Given the description of an element on the screen output the (x, y) to click on. 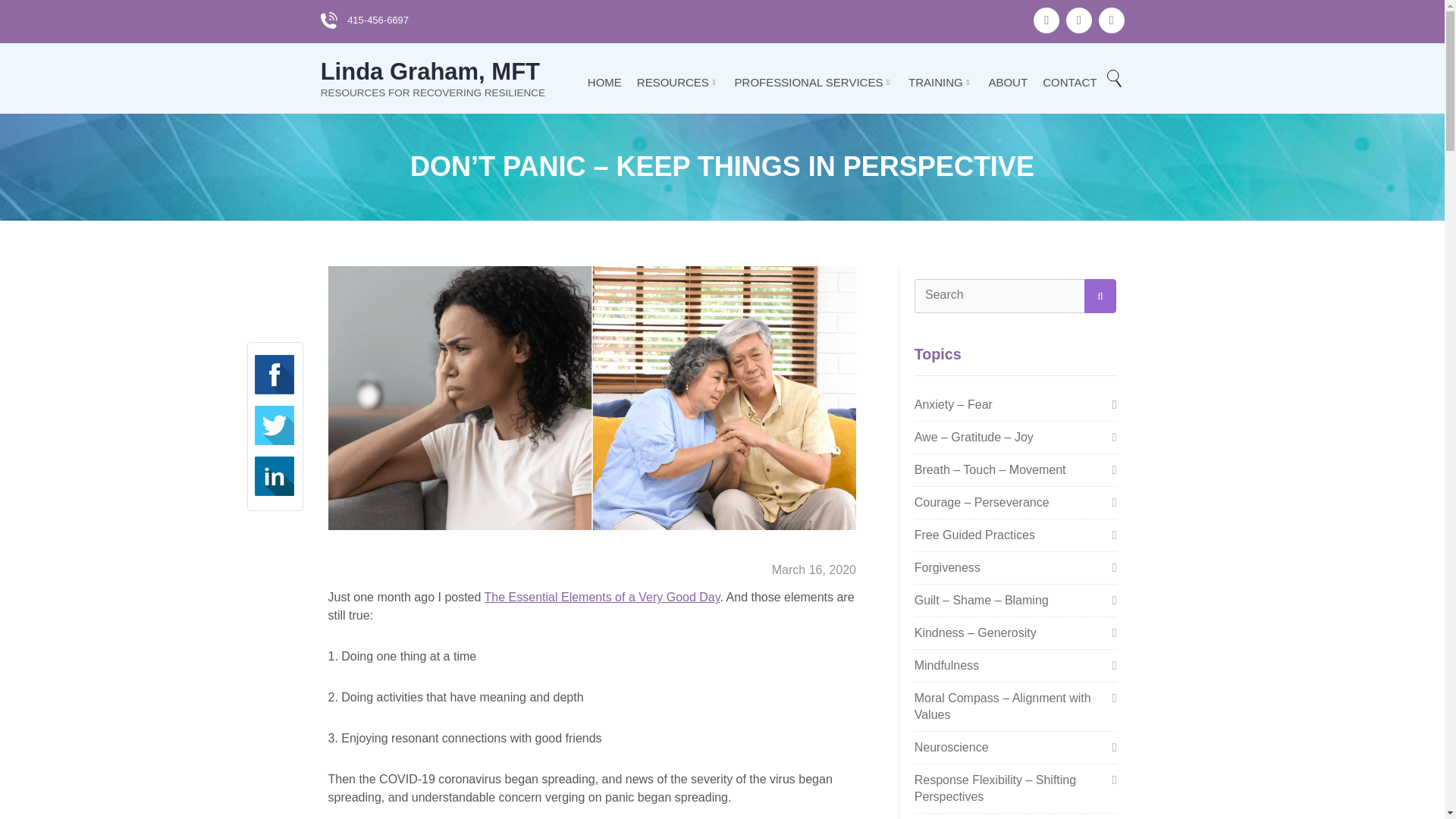
The Essential Elements of a Very Good Day (602, 596)
RESOURCES (678, 82)
PROFESSIONAL SERVICES (814, 82)
CONTACT (1069, 82)
TRAINING (940, 82)
HOME (604, 82)
ABOUT (1007, 82)
